Given the description of an element on the screen output the (x, y) to click on. 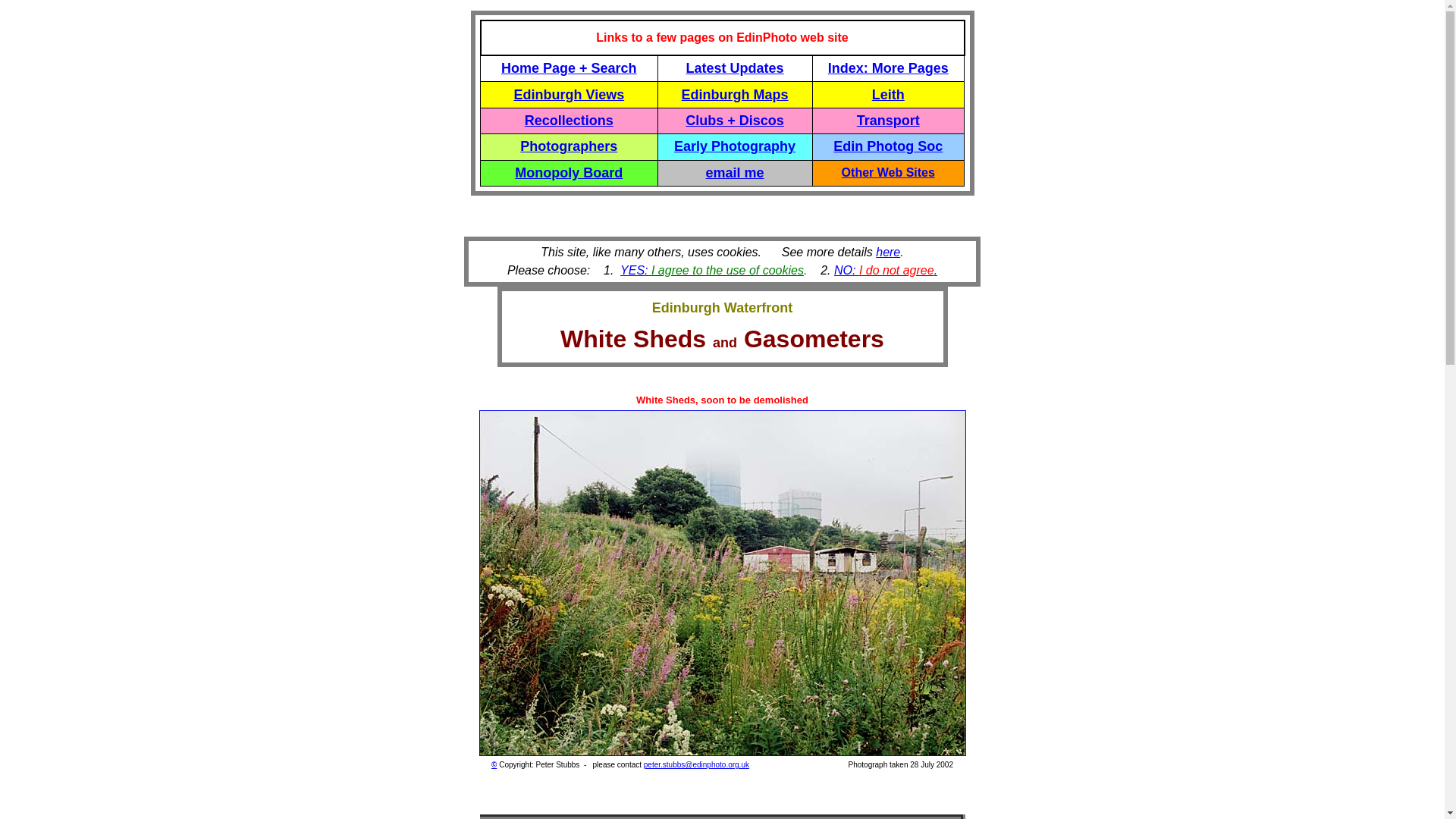
Other Web Sites (887, 172)
Photographers (568, 145)
Early Photography (734, 145)
Edinburgh Views (568, 94)
Edin Photog Soc (887, 145)
Recollections (568, 120)
NO: I do not agree. (885, 269)
YES: I agree to the use of cookies (711, 269)
Monopoly Board (569, 172)
Edinburgh Maps (735, 94)
